Given the description of an element on the screen output the (x, y) to click on. 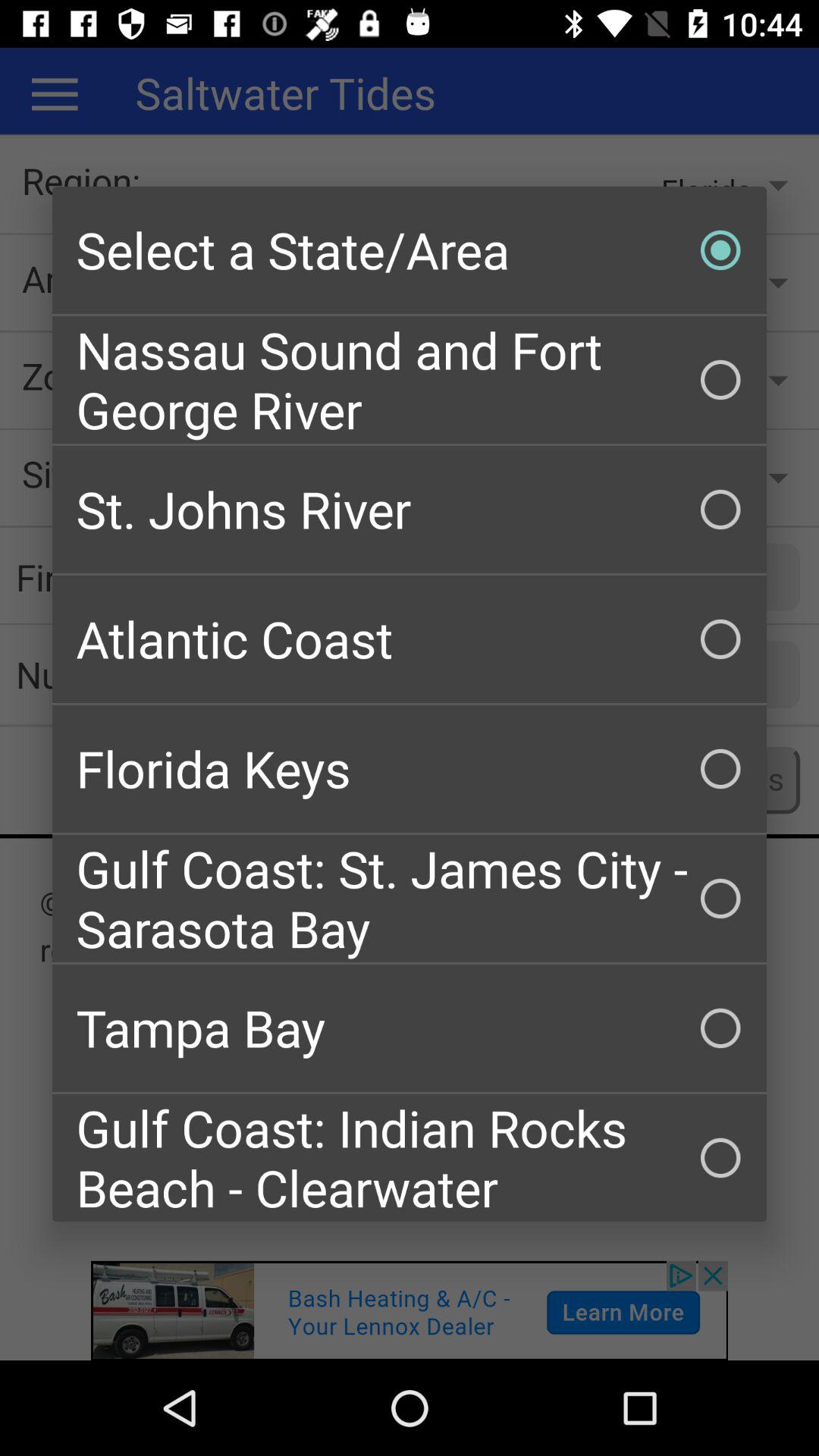
tap tampa bay icon (409, 1028)
